Given the description of an element on the screen output the (x, y) to click on. 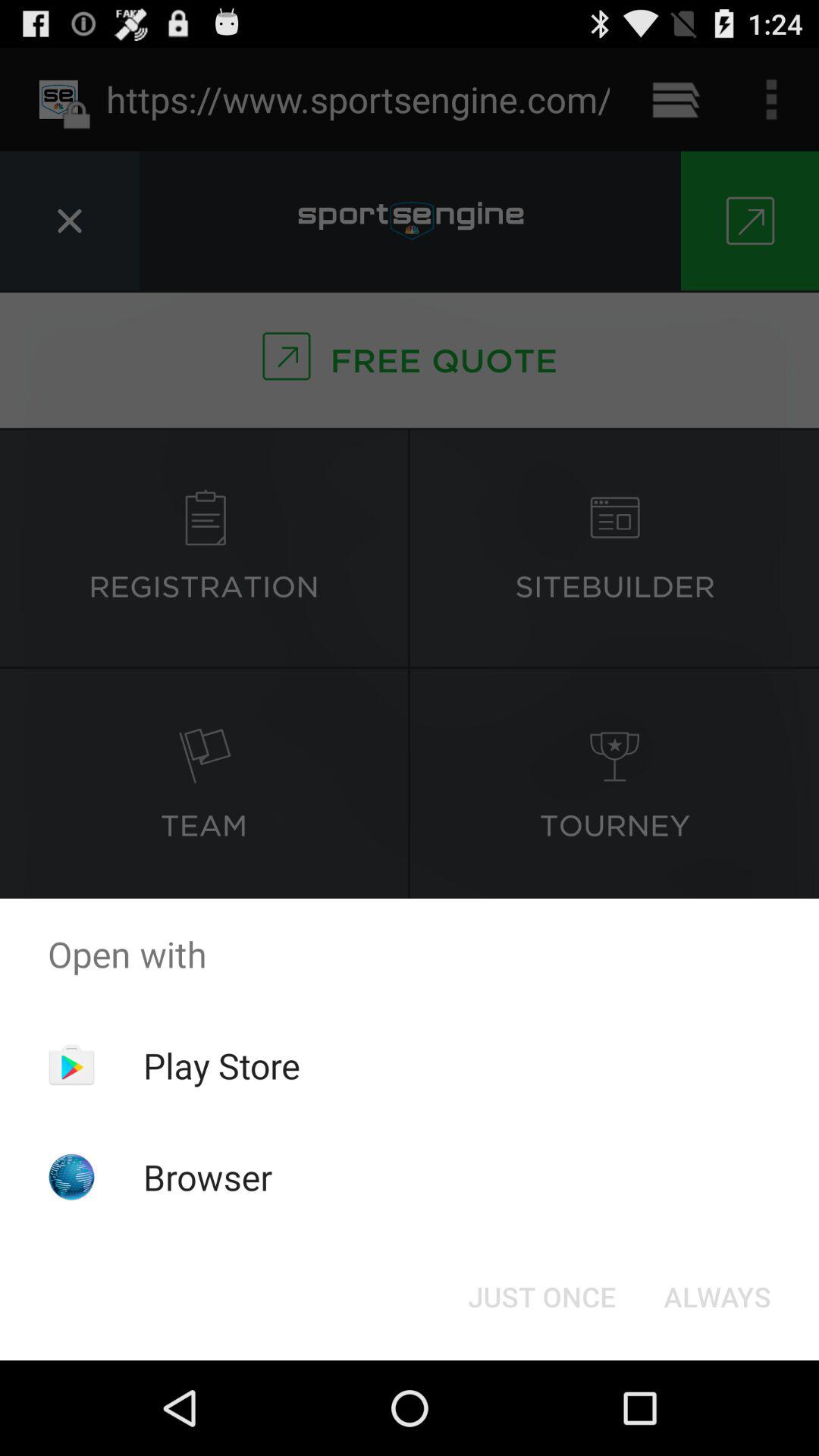
launch the browser icon (207, 1176)
